Given the description of an element on the screen output the (x, y) to click on. 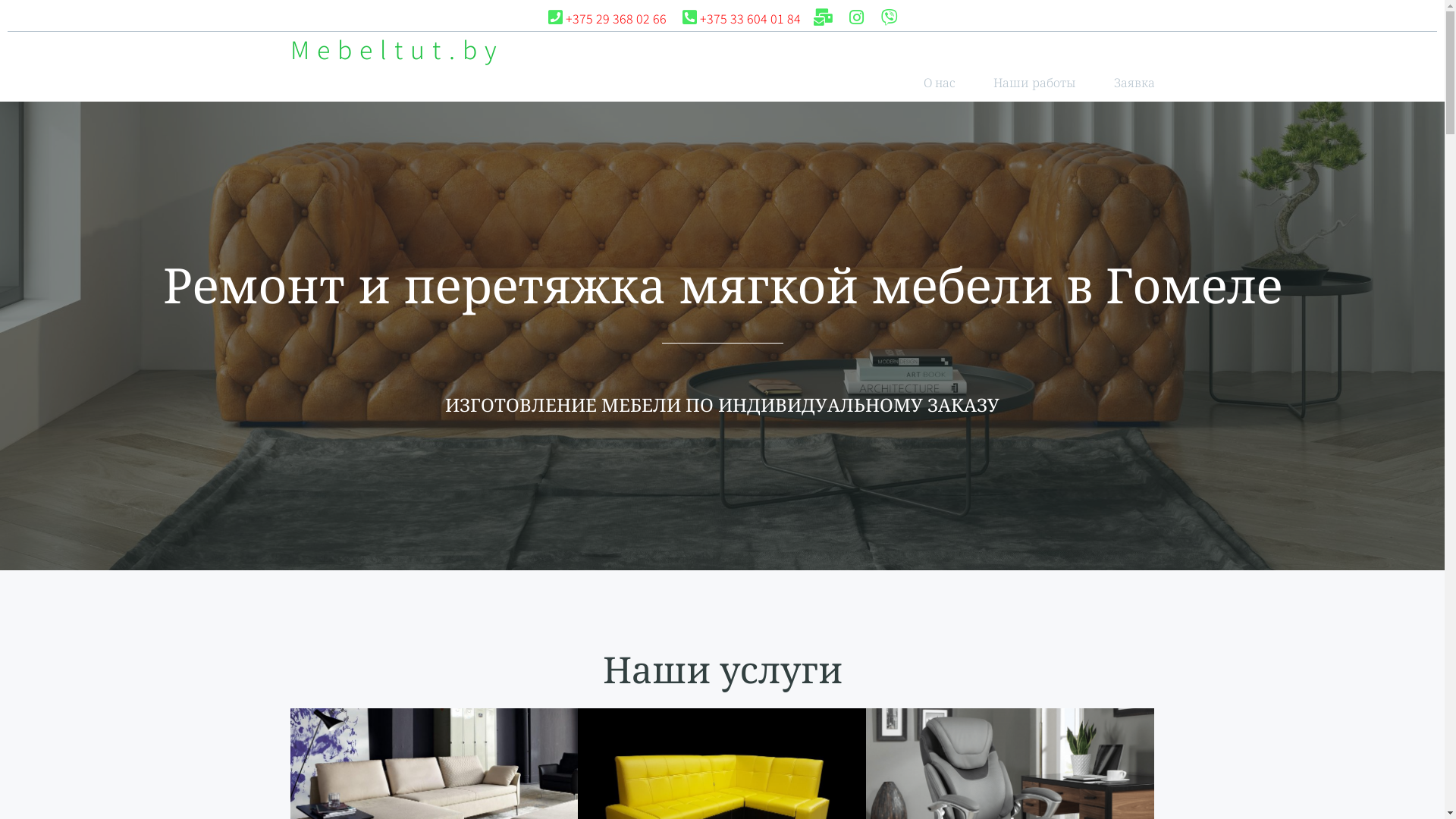
+375 29 368 02 66 Element type: text (606, 18)
Mebeltut.by Element type: text (396, 48)
+375 33 604 01 84 Element type: text (739, 18)
